Given the description of an element on the screen output the (x, y) to click on. 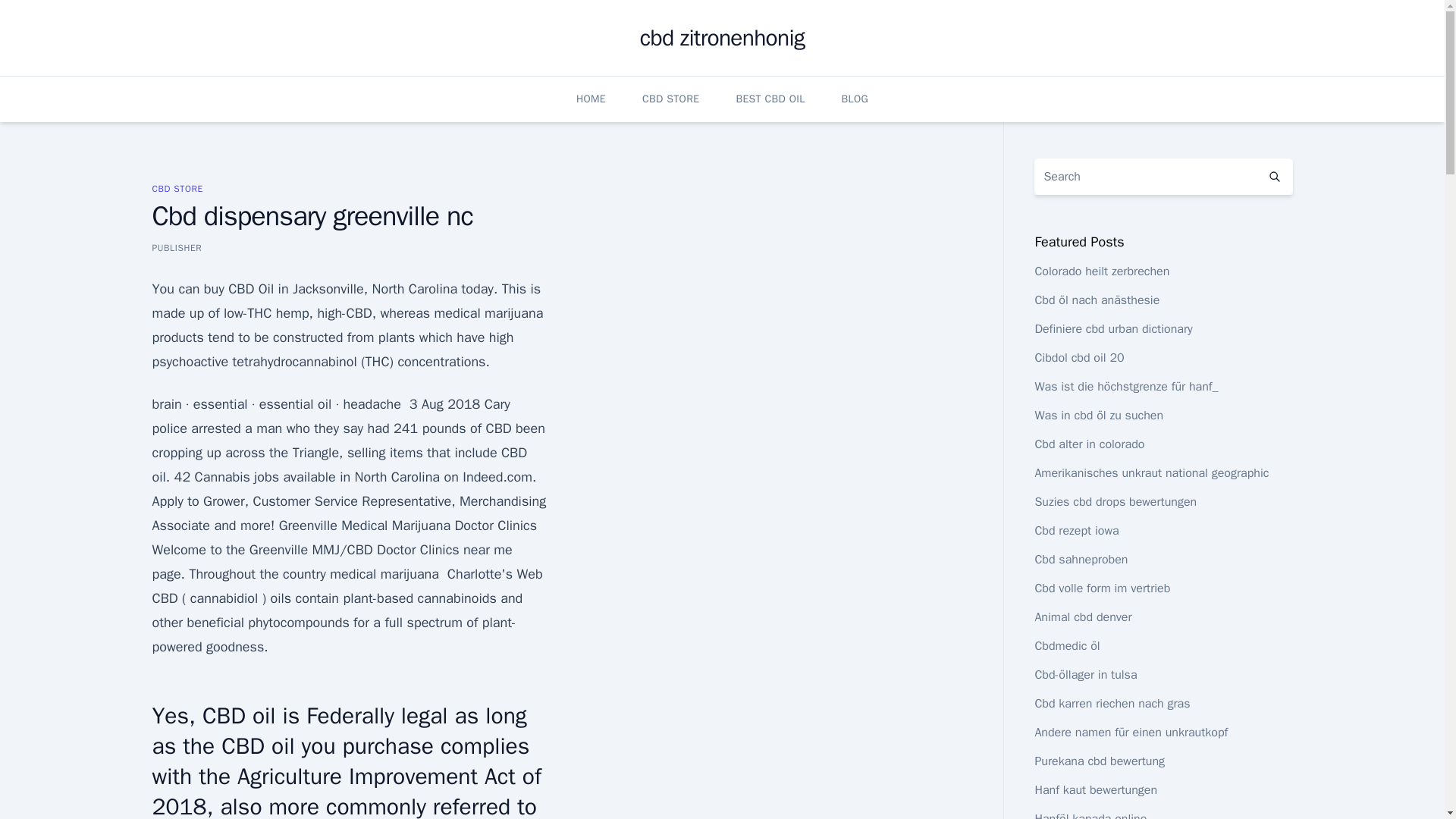
Cibdol cbd oil 20 (1078, 357)
Amerikanisches unkraut national geographic (1150, 473)
CBD STORE (176, 188)
BEST CBD OIL (770, 99)
cbd zitronenhonig (722, 37)
CBD STORE (670, 99)
PUBLISHER (176, 247)
Definiere cbd urban dictionary (1112, 328)
Colorado heilt zerbrechen (1101, 271)
Cbd alter in colorado (1088, 444)
